Given the description of an element on the screen output the (x, y) to click on. 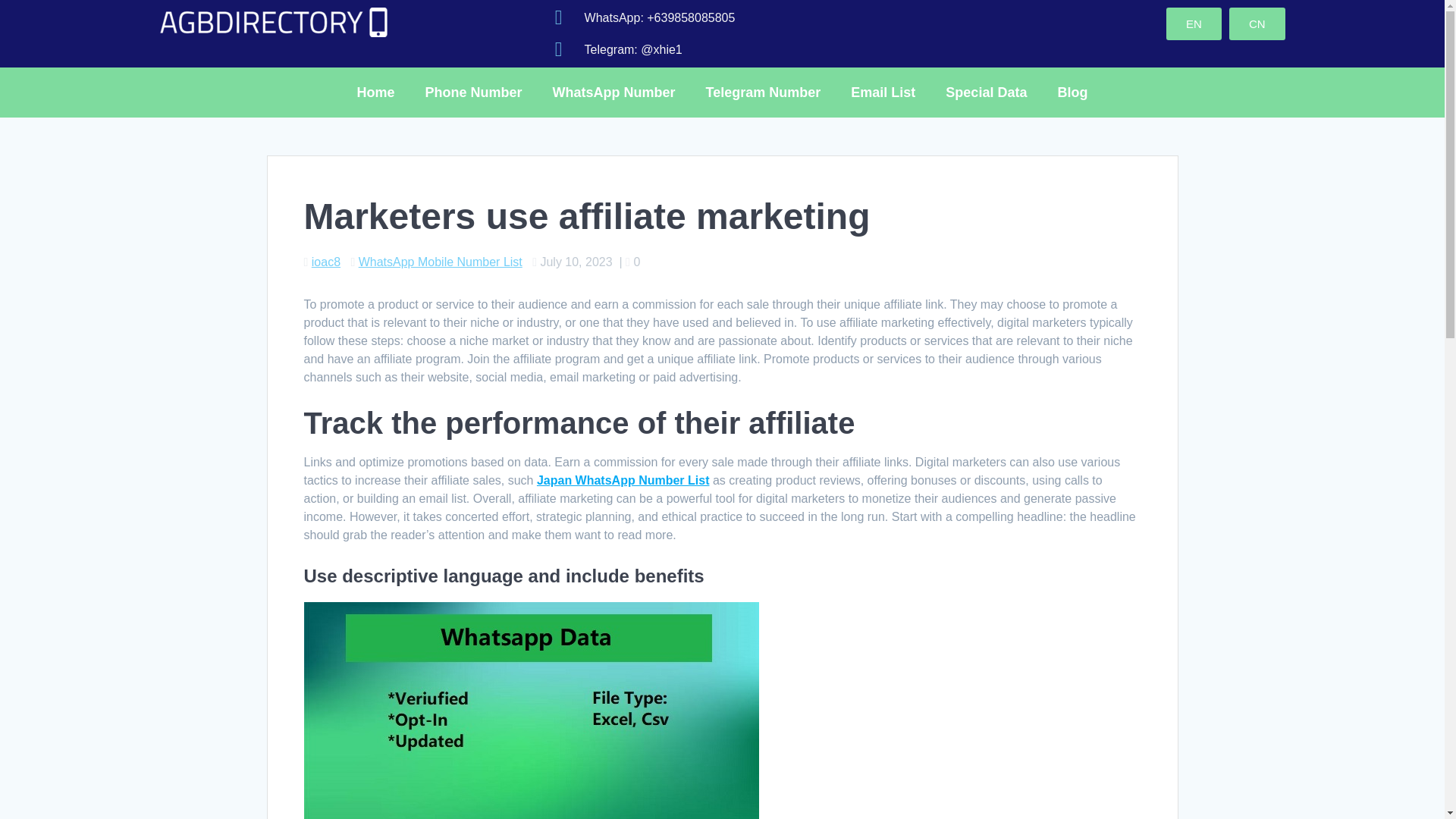
Telegram Number (762, 92)
Blog (1072, 92)
WhatsApp Number (613, 92)
Phone Number (473, 92)
Japan WhatsApp Number List (623, 480)
ioac8 (325, 261)
Email List (882, 92)
Posts by ioac8 (325, 261)
EN (1193, 23)
Special Data (986, 92)
CN (1256, 23)
WhatsApp Mobile Number List (440, 261)
Home (376, 92)
